Given the description of an element on the screen output the (x, y) to click on. 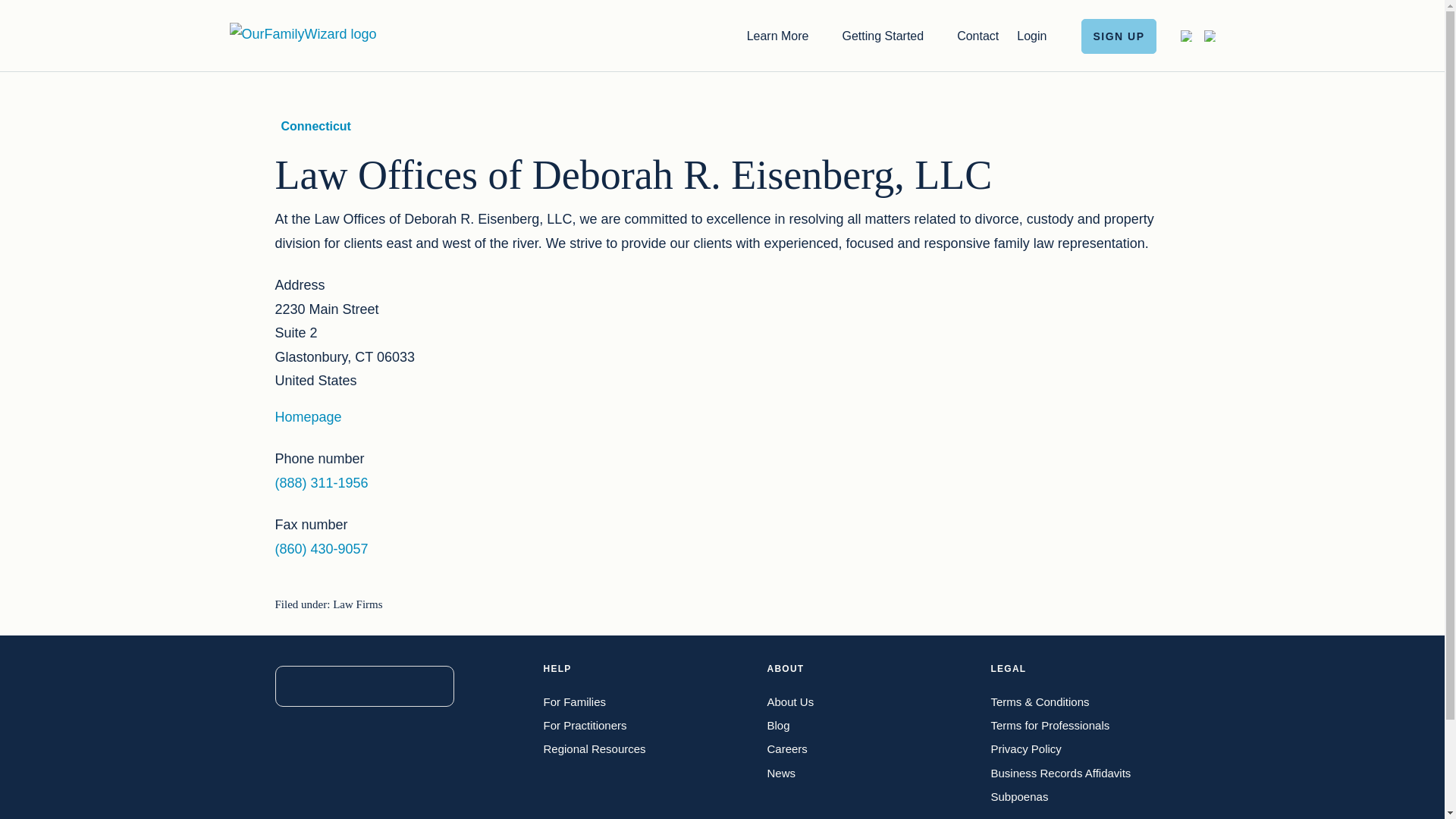
Contact (977, 35)
SIGN UP (1118, 35)
OurFamilyWizard (301, 32)
